Given the description of an element on the screen output the (x, y) to click on. 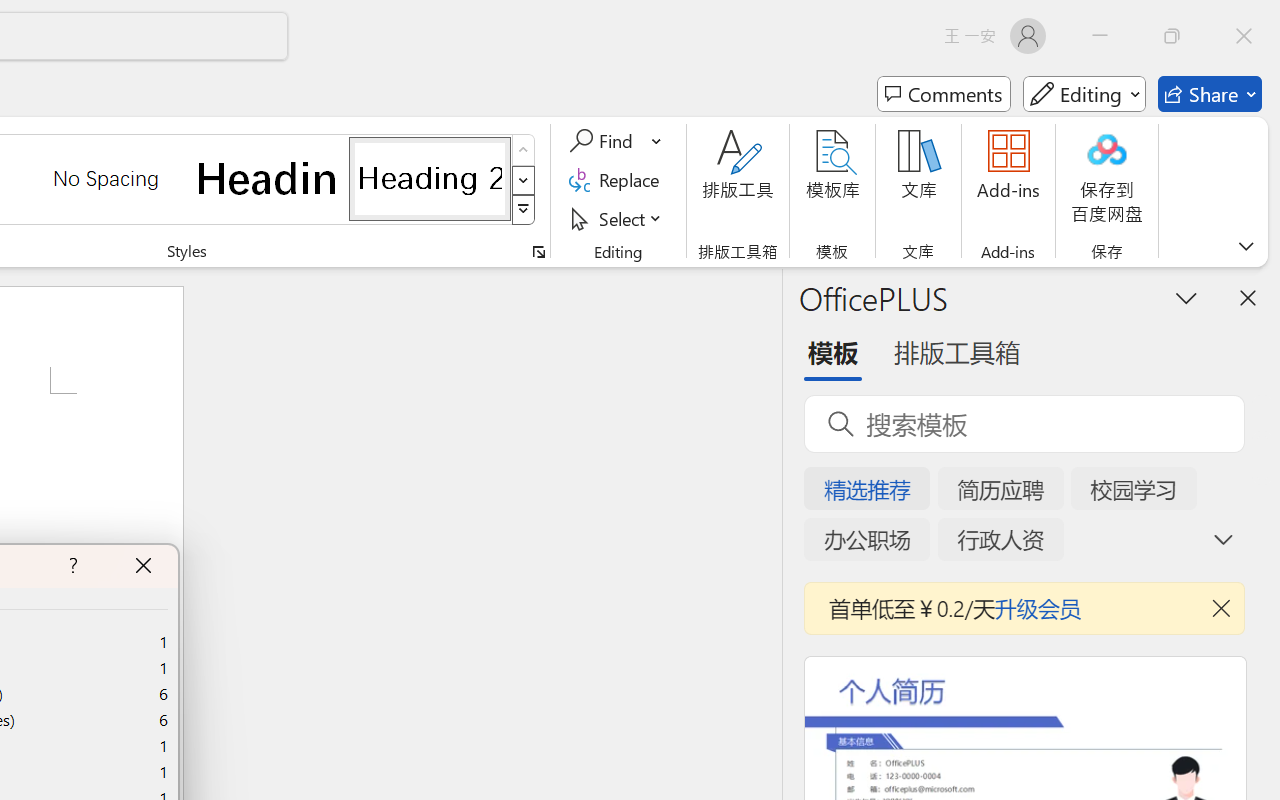
Heading 2 (429, 178)
Select (618, 218)
Ribbon Display Options (1246, 245)
Mode (1083, 94)
Row Down (523, 180)
Task Pane Options (1186, 297)
Styles... (538, 252)
